Given the description of an element on the screen output the (x, y) to click on. 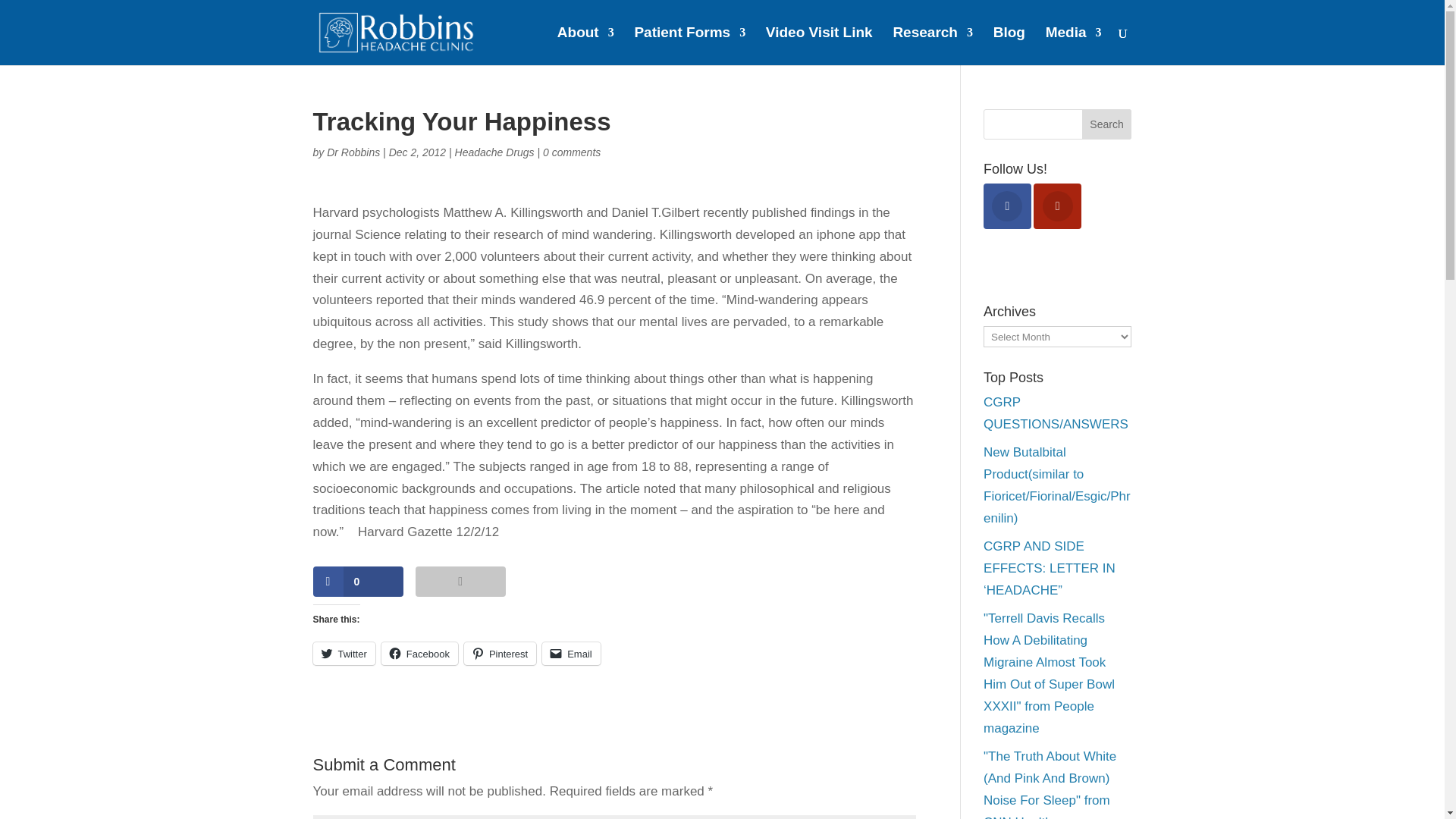
Media (1073, 46)
Video Visit Link (818, 46)
Click to share on Twitter (343, 653)
Click to share on Facebook (419, 653)
About (585, 46)
Click to share on Pinterest (499, 653)
Click to email a link to a friend (570, 653)
Research (932, 46)
Search (1106, 123)
Posts by Dr Robbins (353, 152)
Patient Forms (689, 46)
